Given the description of an element on the screen output the (x, y) to click on. 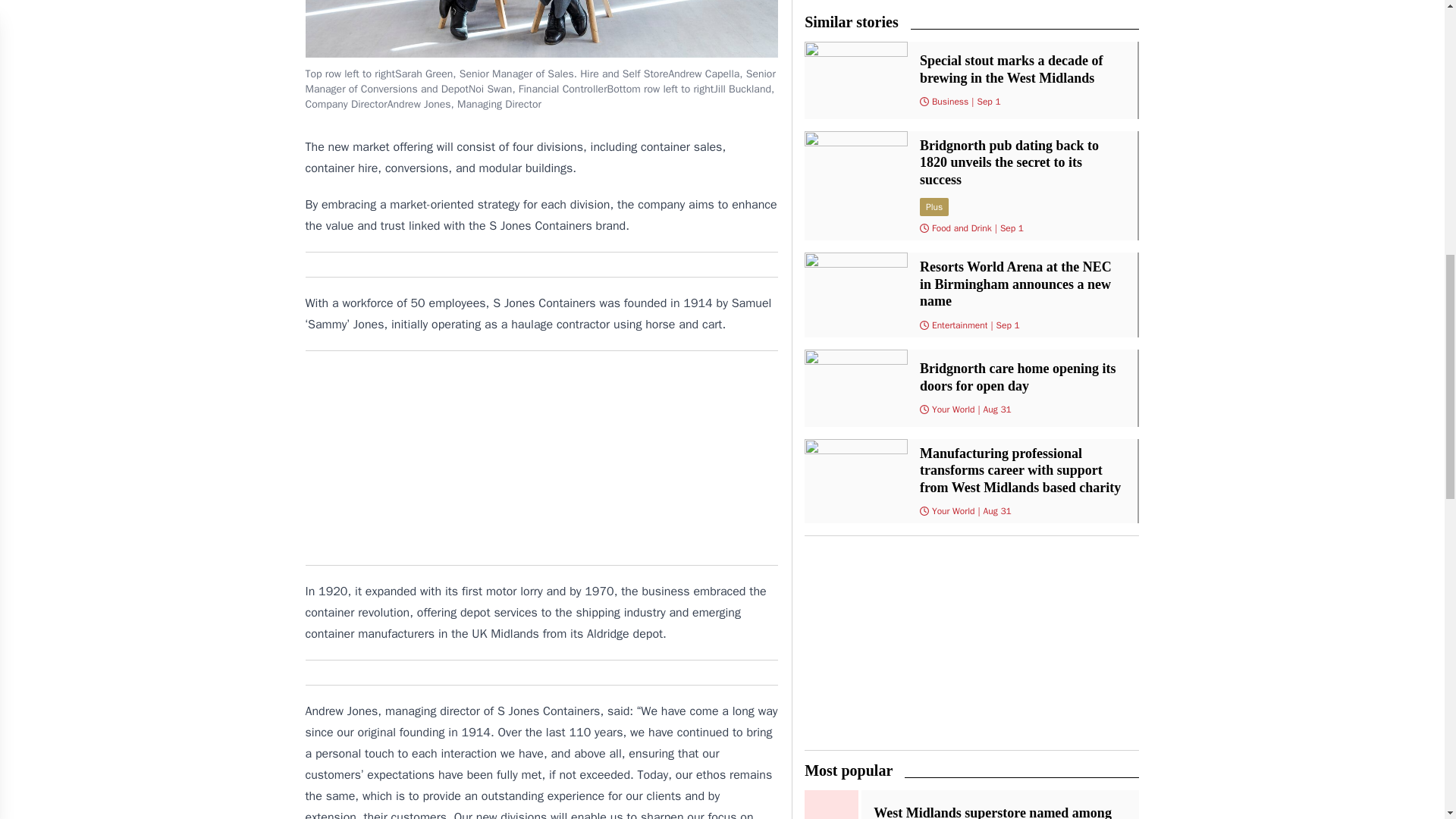
Your World (953, 510)
Food and Drink (961, 227)
Your World (953, 409)
Business (949, 101)
Entertainment (959, 325)
